Given the description of an element on the screen output the (x, y) to click on. 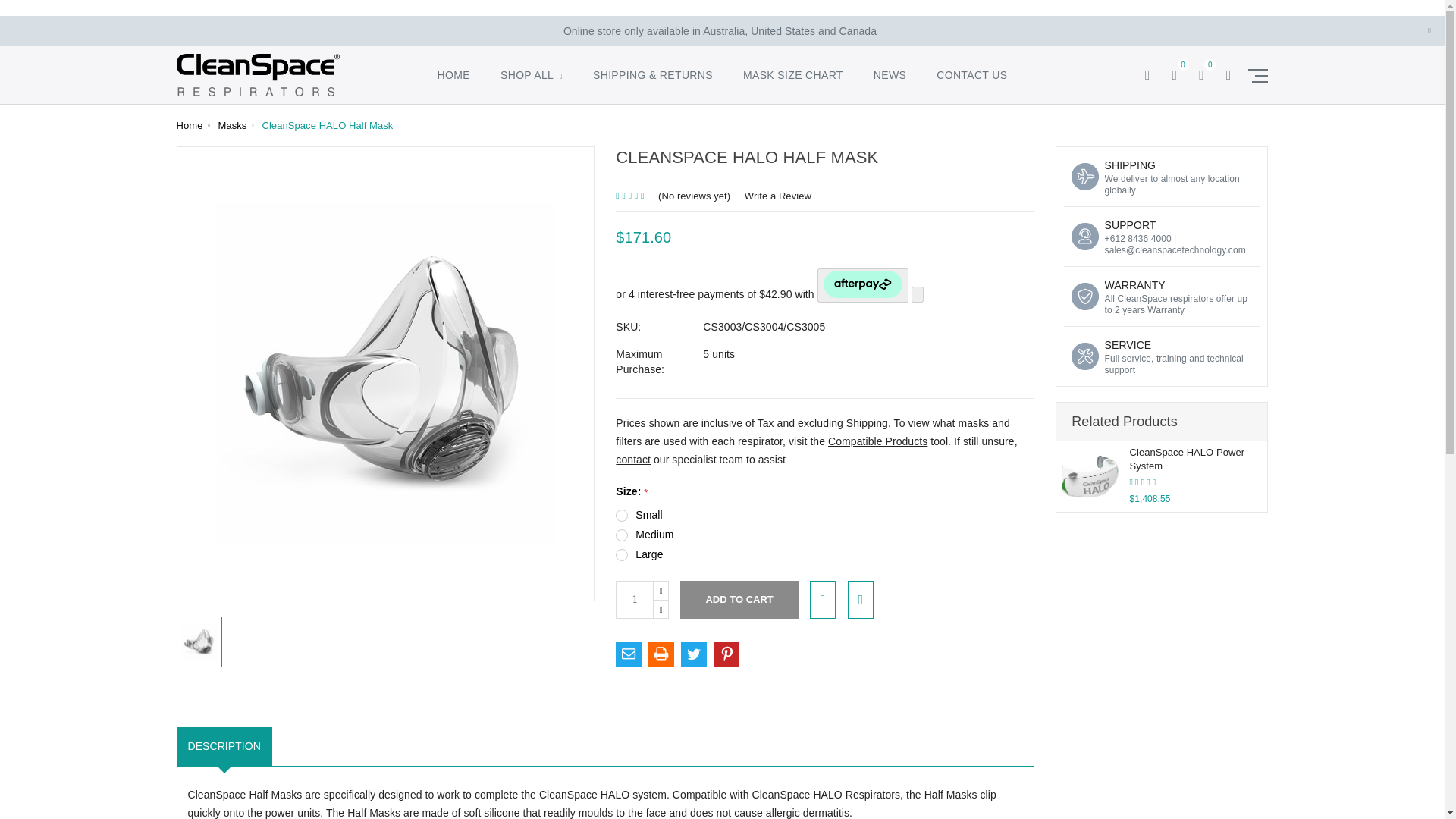
NEWS (889, 84)
Write a Review (777, 195)
1 (634, 599)
Home (189, 125)
CONTACT US (971, 84)
HOME (454, 84)
CleanSpace HALO Half Mask (385, 373)
MASK SIZE CHART (792, 84)
SHOP ALL (531, 84)
CleanSpace HALO Half Mask (198, 641)
Add to Cart (738, 599)
CleanSpace HALO Power System (1091, 475)
